Given the description of an element on the screen output the (x, y) to click on. 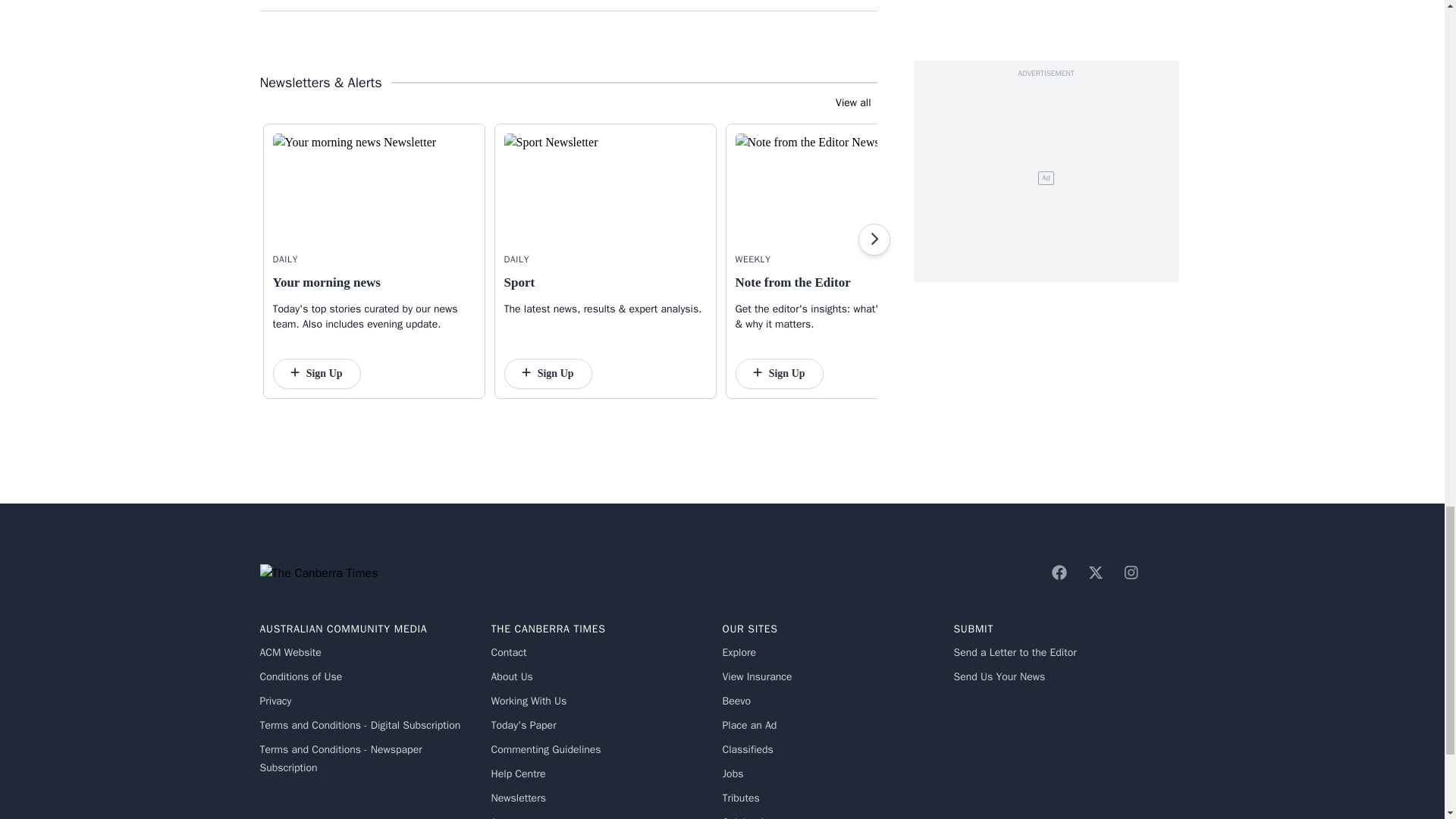
Note from the Editor Newsletter (836, 187)
Sport Newsletter (604, 187)
Your morning news Newsletter (374, 187)
